Given the description of an element on the screen output the (x, y) to click on. 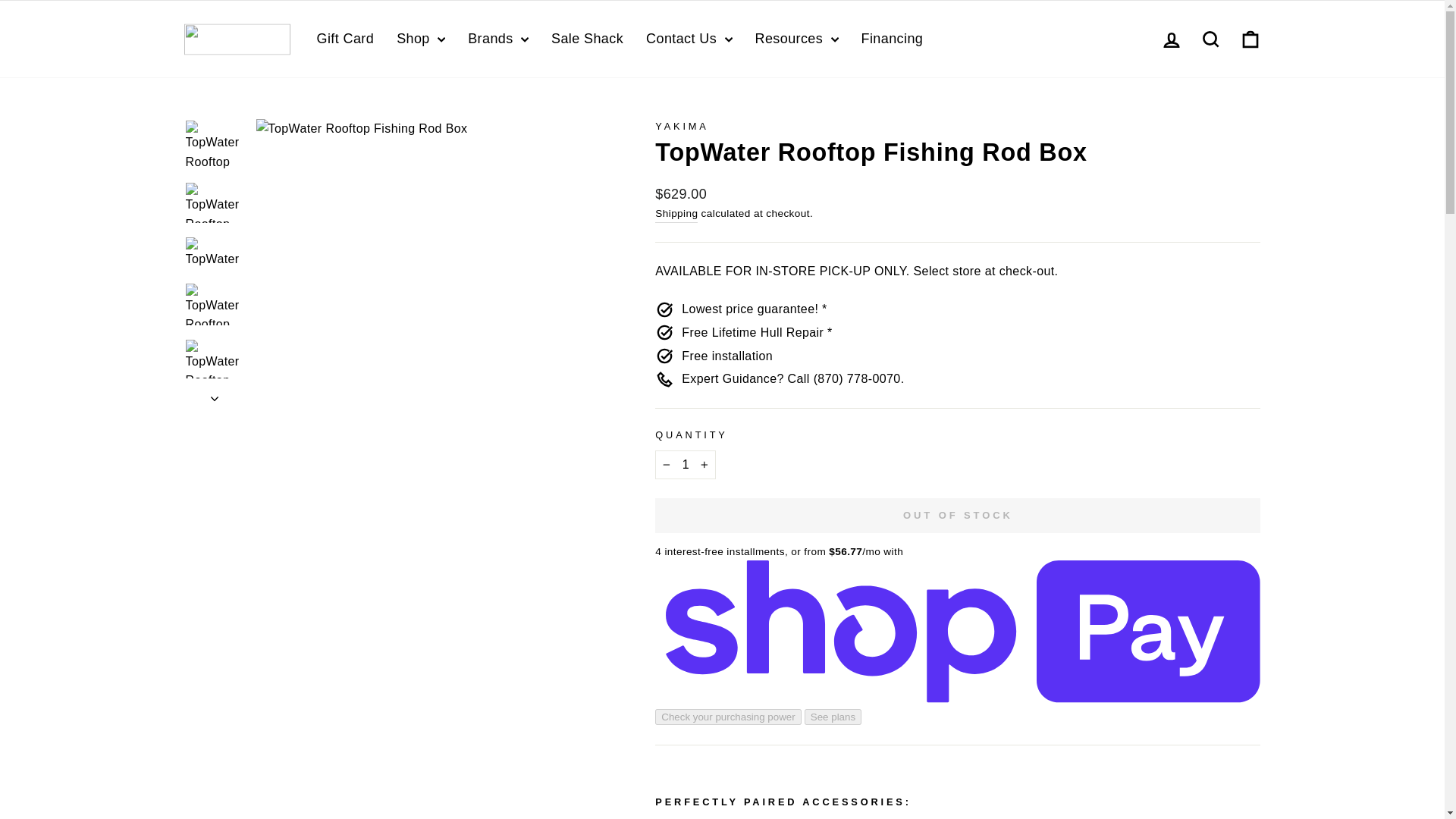
account (1170, 39)
icon-search (1210, 38)
icon-bag-minimal (1249, 38)
icon-chevron (214, 398)
1 (685, 464)
